Given the description of an element on the screen output the (x, y) to click on. 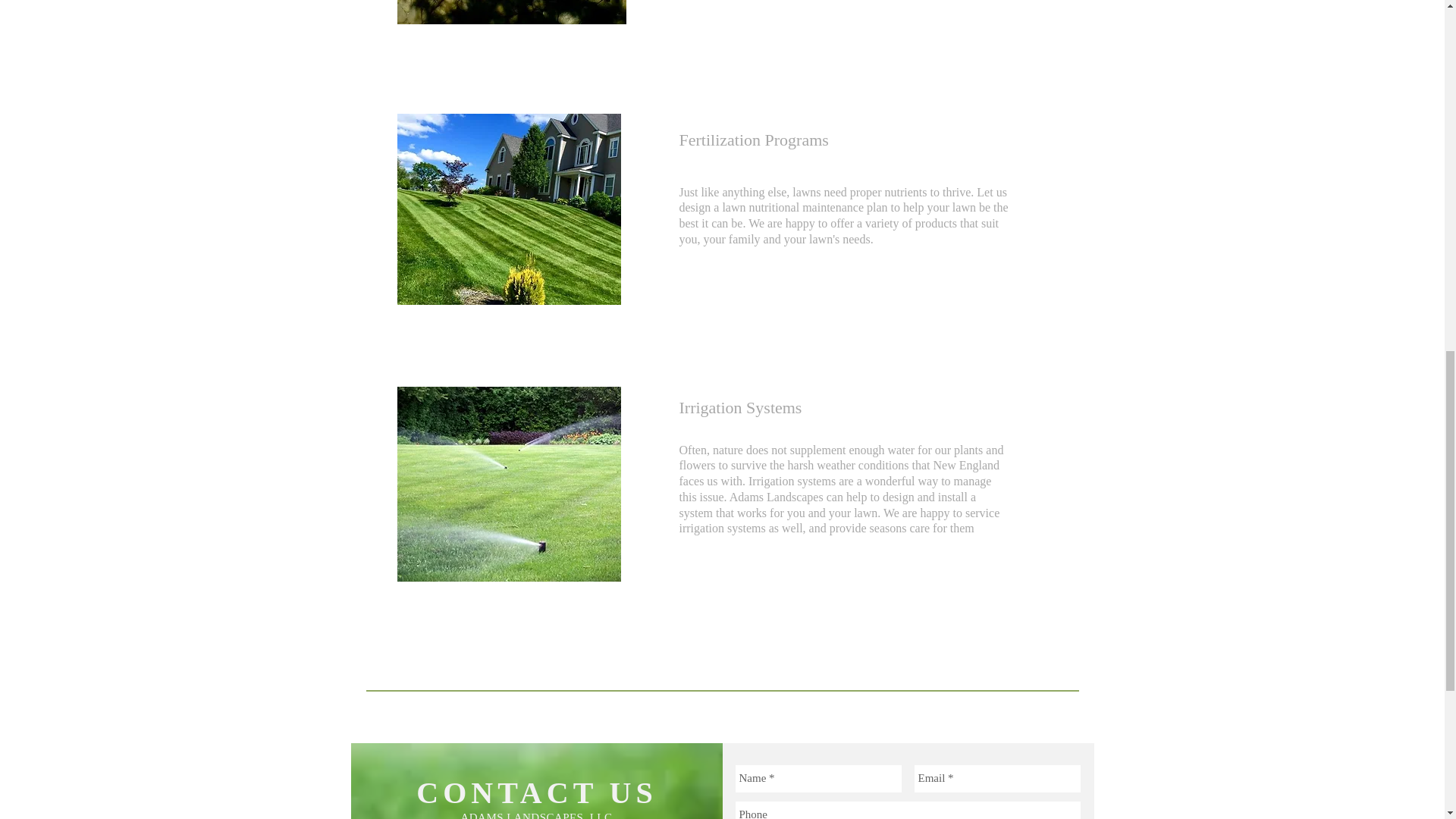
irrigation-layout.jpg (509, 483)
